Given the description of an element on the screen output the (x, y) to click on. 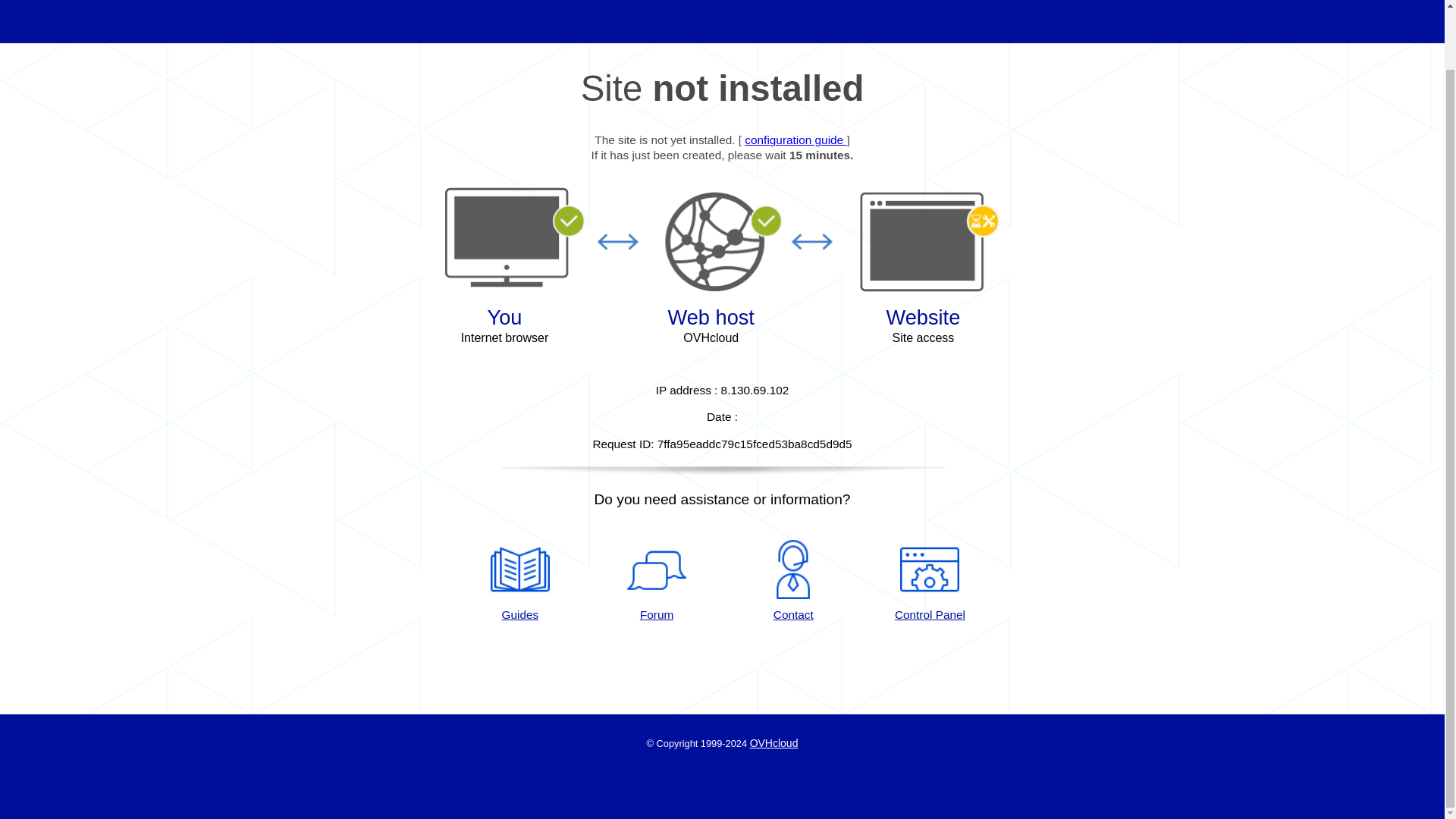
Guides (794, 139)
configuration guide (794, 139)
Forum (656, 581)
Control Panel (930, 581)
Contact (793, 581)
Guides (519, 581)
Contact (793, 581)
Forum (656, 581)
Control Panel (930, 581)
OVHcloud (773, 743)
Guides (519, 581)
